Given the description of an element on the screen output the (x, y) to click on. 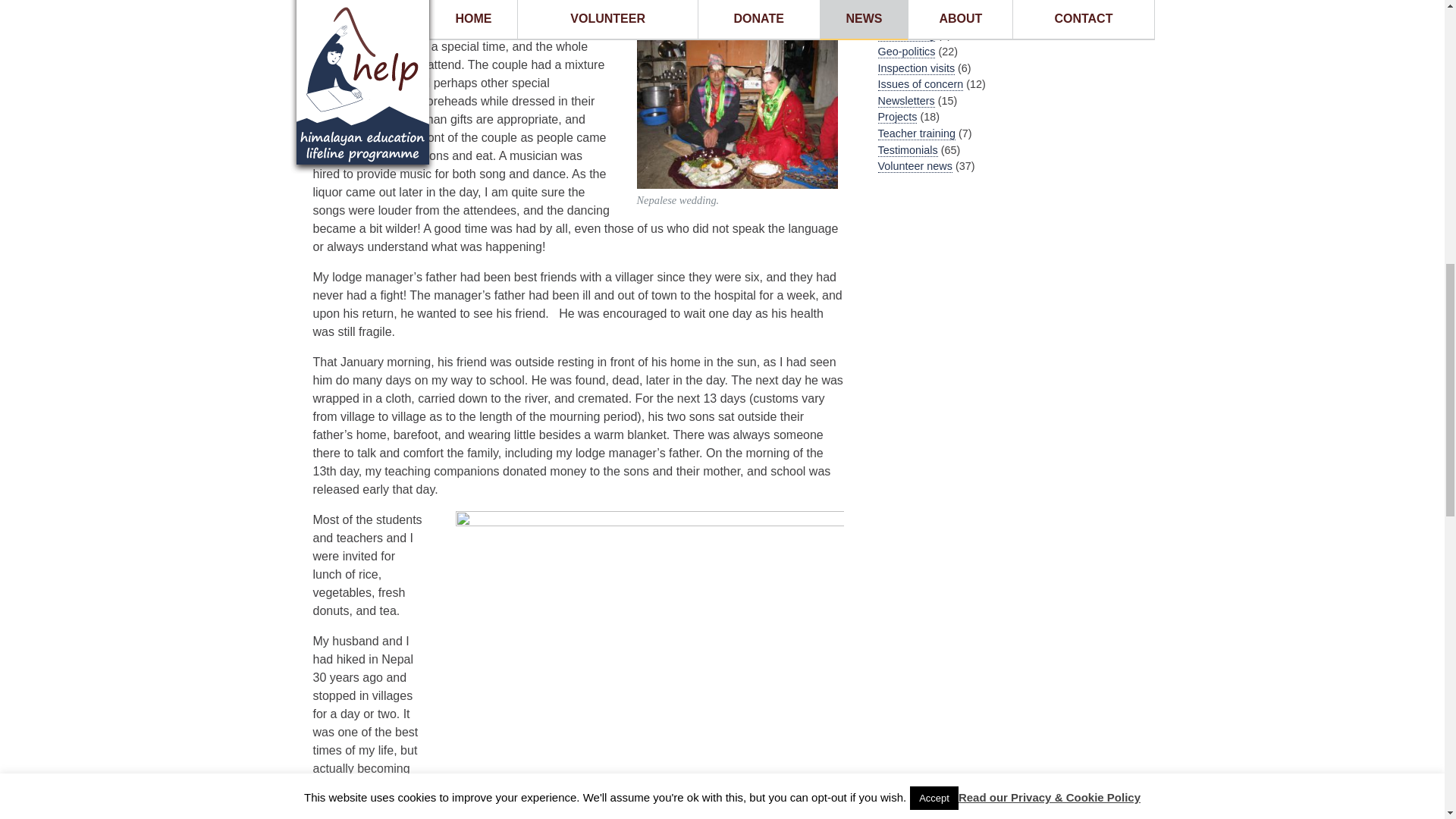
Inspection visits (916, 68)
Geo-politics (906, 51)
Issues of concern (920, 83)
Fundraising (905, 34)
Projects (897, 116)
Teacher training (916, 133)
Newsletters (905, 101)
